Given the description of an element on the screen output the (x, y) to click on. 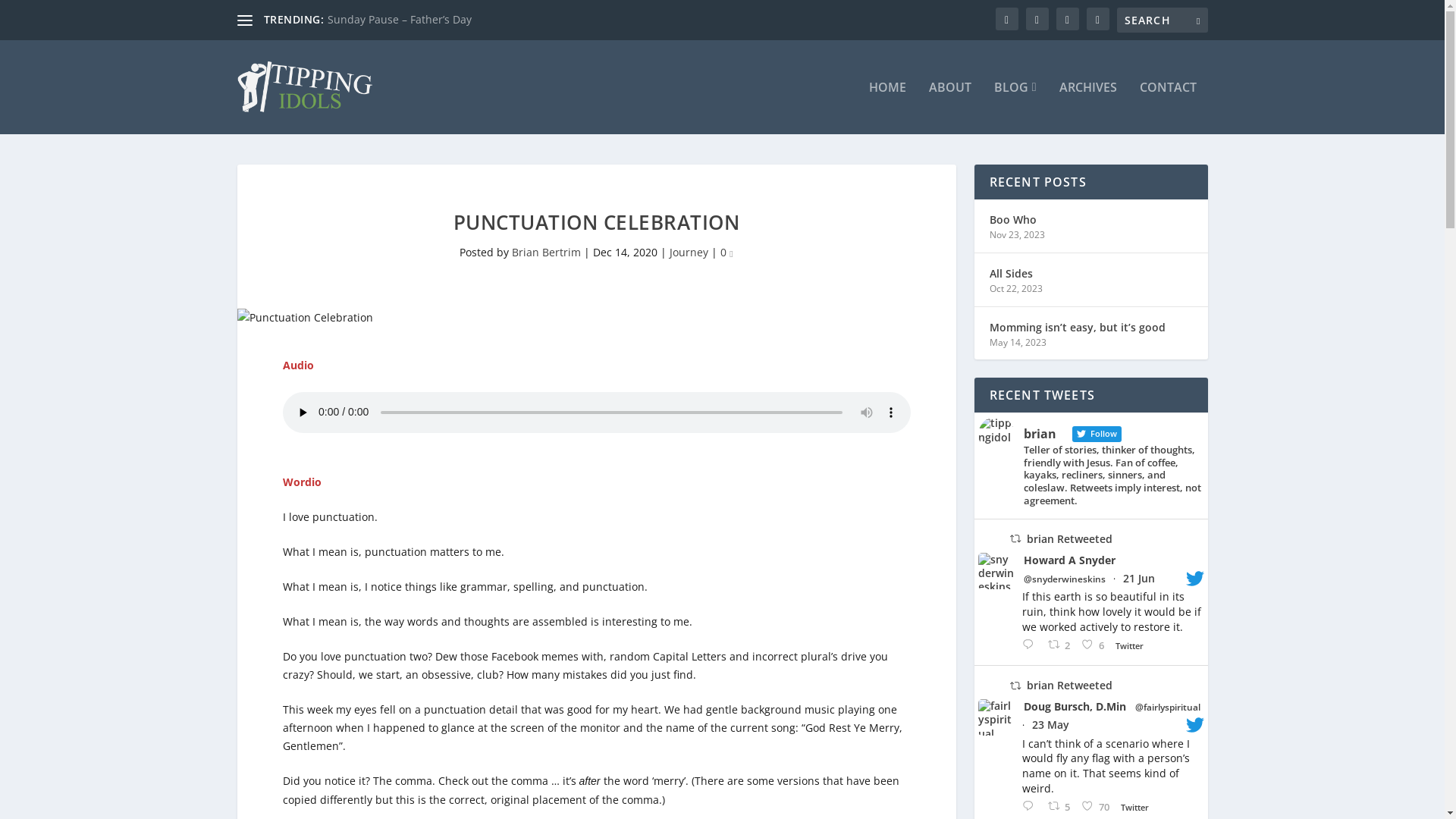
Reply on Twitter 1661069616507154432 Element type: text (1030, 806)
ABOUT Element type: text (949, 107)
Doug Bursch, D.Min Element type: text (1074, 706)
brian Retweeted Element type: text (1069, 538)
CONTACT Element type: text (1167, 107)
0 Element type: text (726, 251)
Retweet on Twitter Element type: text (1015, 538)
Retweet on Twitter 1671456879883567107
2 Element type: text (1060, 644)
Twitter 1671456879883567107 Element type: text (1132, 645)
HOME Element type: text (887, 107)
comment count Element type: hover (730, 253)
@snyderwineskins Element type: text (1064, 579)
Journey Element type: text (688, 251)
BLOG Element type: text (1015, 107)
23 May Element type: text (1049, 724)
Retweet on Twitter Element type: text (1015, 685)
All Sides Element type: text (1010, 273)
Like on Twitter 1661069616507154432
70 Element type: text (1096, 806)
Boo Who Element type: text (1011, 219)
Like on Twitter 1671456879883567107
6 Element type: text (1093, 644)
brian Retweeted Element type: text (1069, 684)
@fairlyspiritual Element type: text (1166, 707)
Retweet on Twitter 1661069616507154432
5 Element type: text (1060, 806)
Search for: Element type: hover (1161, 19)
Twitter 1661069616507154432 Element type: text (1137, 806)
21 Jun Element type: text (1138, 578)
Brian Bertrim Element type: text (545, 251)
Reply on Twitter 1671456879883567107 Element type: text (1030, 644)
ARCHIVES Element type: text (1087, 107)
Howard A Snyder Element type: text (1069, 560)
